Given the description of an element on the screen output the (x, y) to click on. 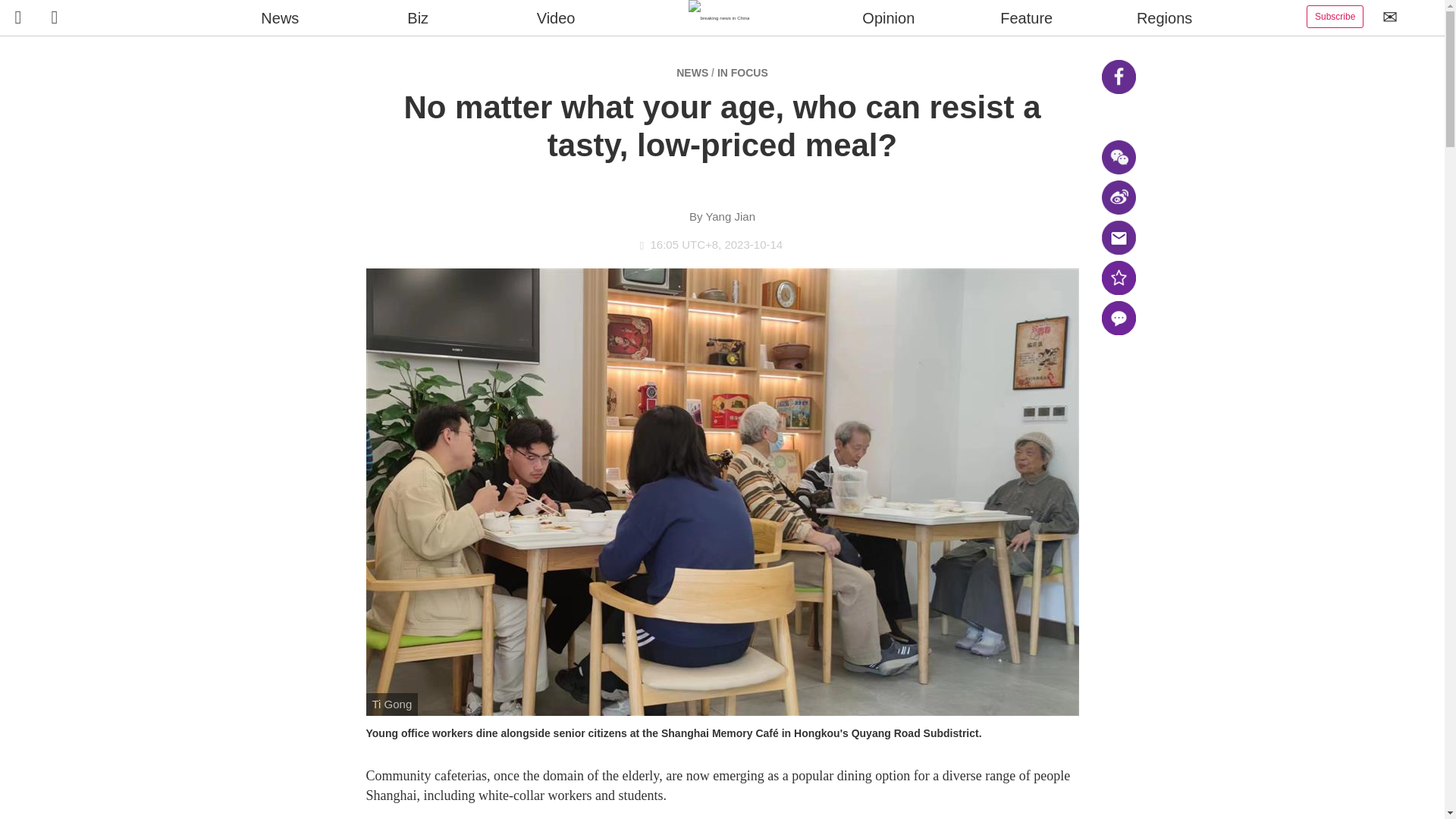
IN FOCUS (742, 72)
Add to favorites (1117, 277)
Share via email (1117, 237)
Share your comments (1117, 317)
NEWS (692, 72)
